Given the description of an element on the screen output the (x, y) to click on. 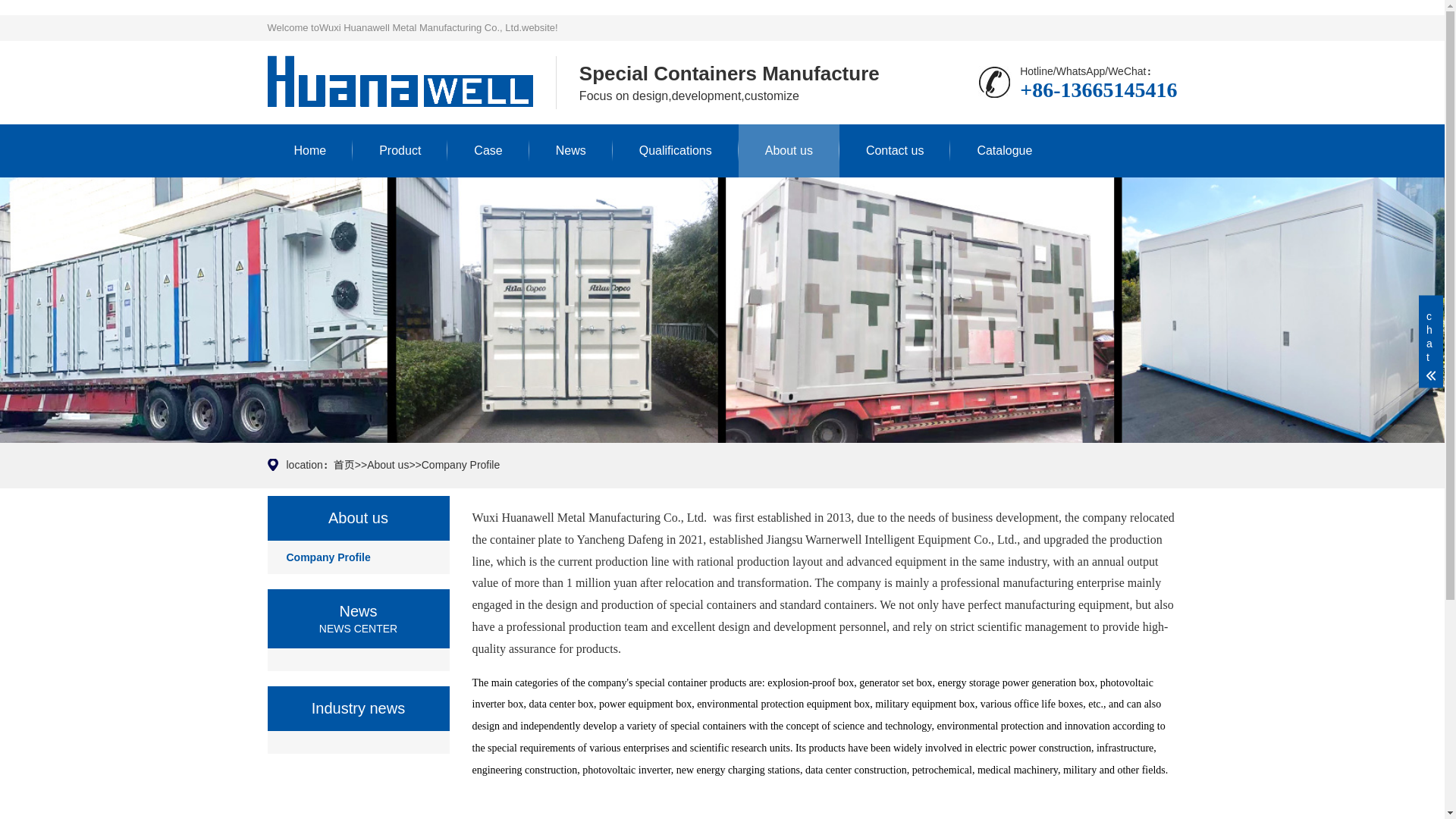
News (570, 150)
Qualifications (675, 150)
Company Profile (357, 557)
About us (387, 464)
Case (487, 150)
Company Profile (461, 464)
Home (309, 150)
About us (789, 150)
Home (309, 150)
Contact us (895, 150)
Product (399, 150)
Wuxi Huanawell Metal Manufacturing Co (399, 82)
Catalogue (1004, 150)
